Given the description of an element on the screen output the (x, y) to click on. 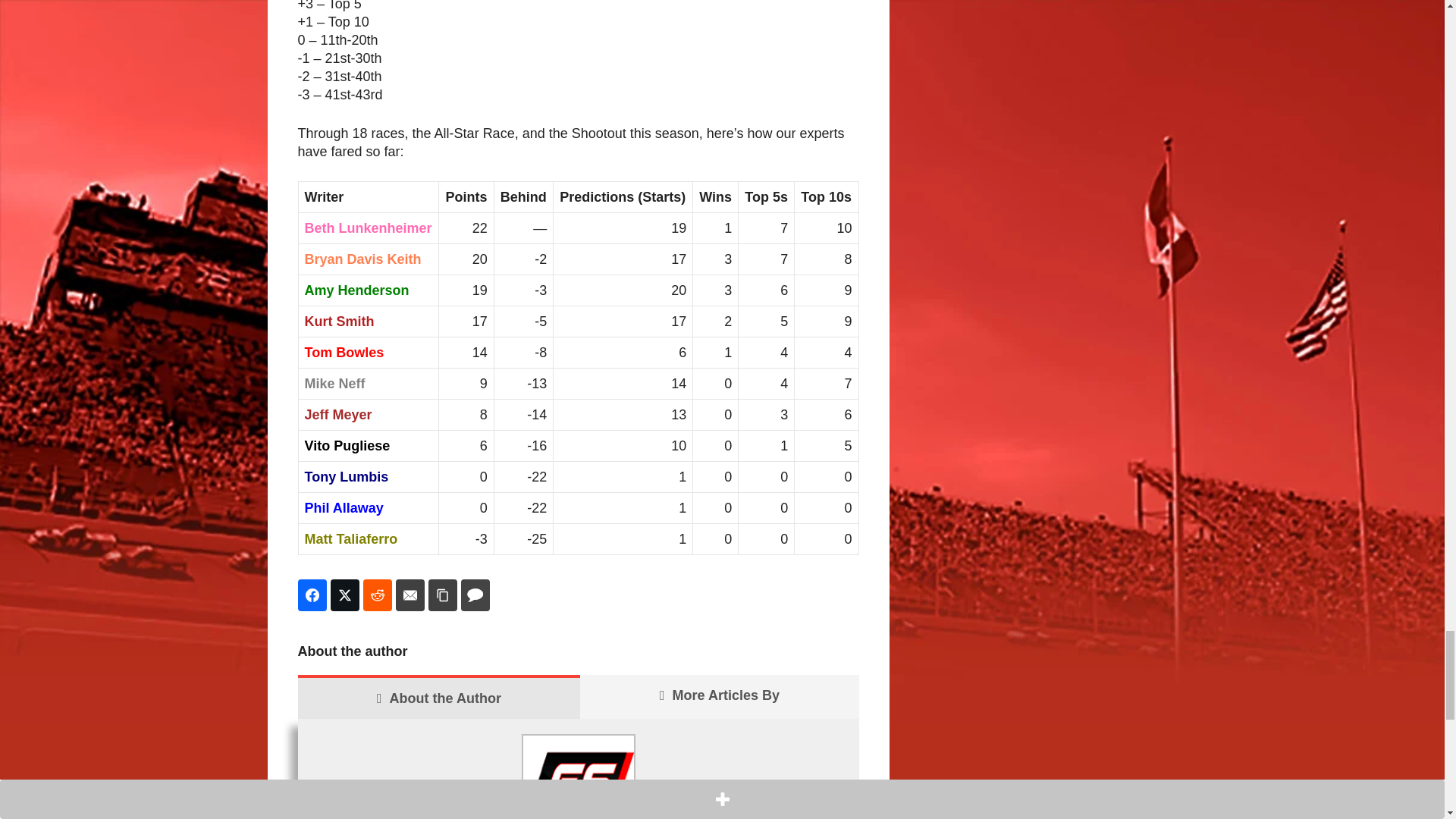
Share on Comments (475, 594)
Share on Reddit (376, 594)
Share on Email (410, 594)
Share on Copy Link (442, 594)
Share on Facebook (311, 594)
Share on Twitter (344, 594)
